Given the description of an element on the screen output the (x, y) to click on. 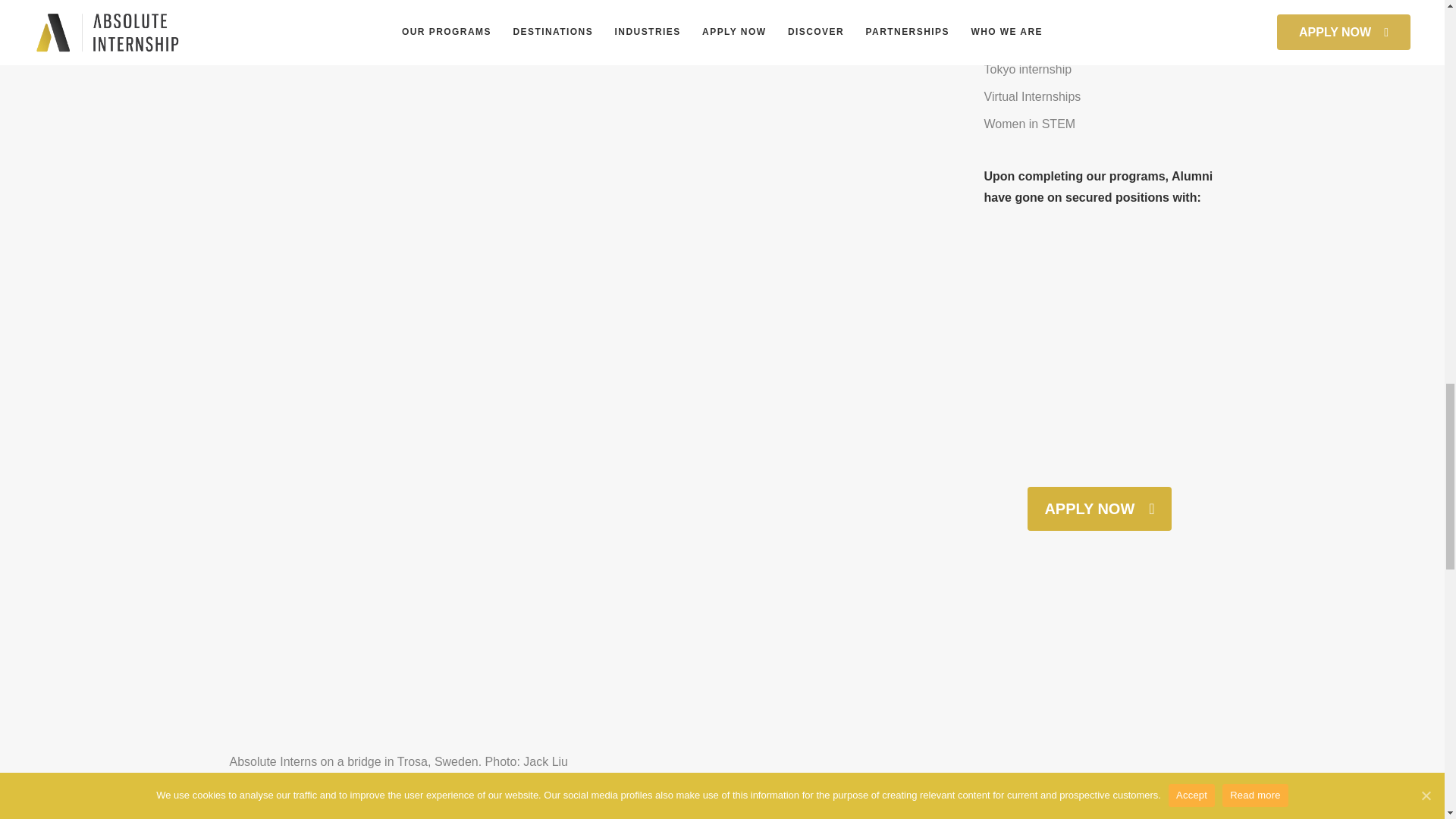
Page 3 (590, 4)
